Given the description of an element on the screen output the (x, y) to click on. 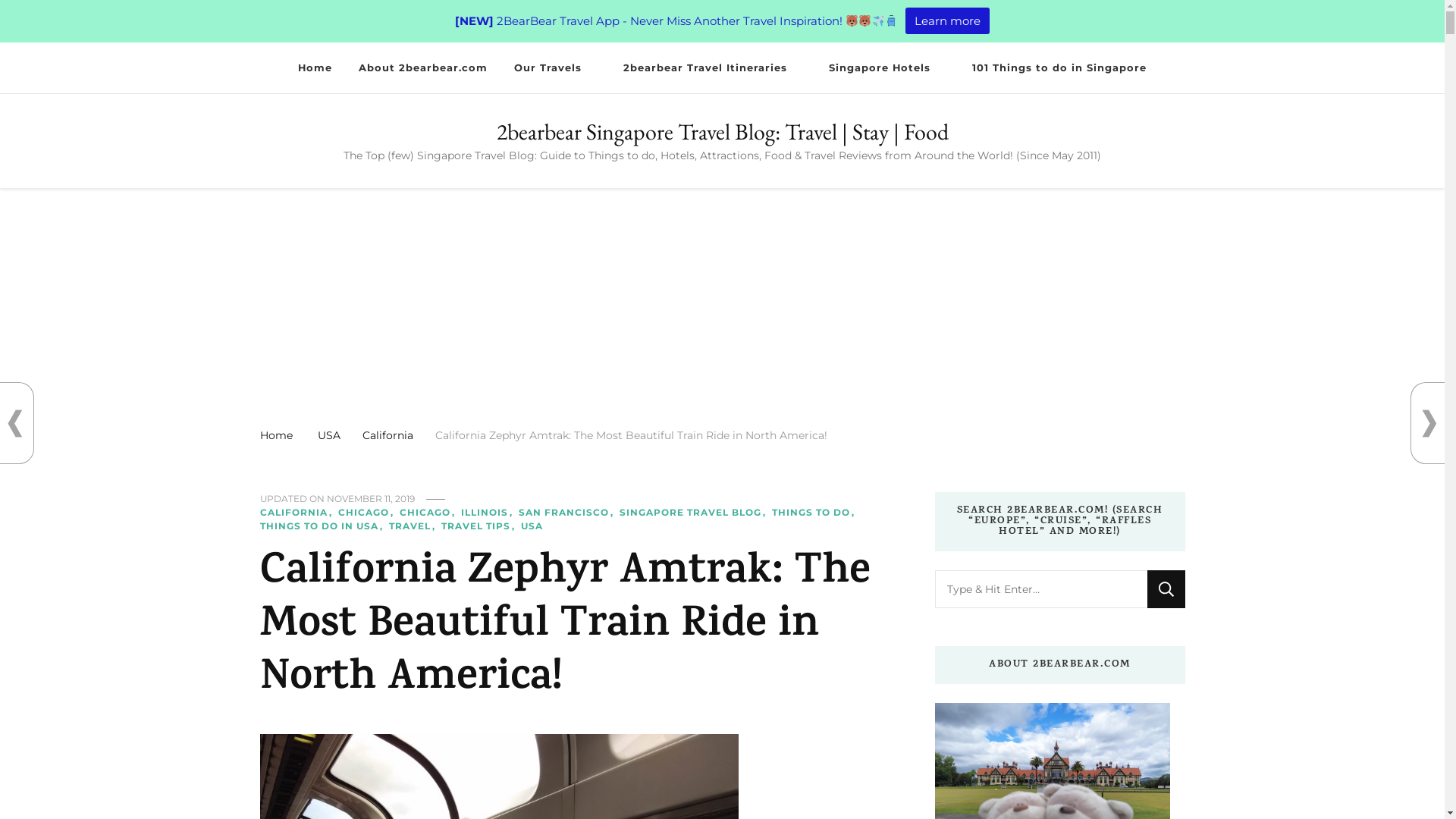
USA Element type: text (327, 434)
THINGS TO DO IN USA Element type: text (322, 526)
2bearbear Travel Itineraries Element type: text (712, 67)
TRAVEL TIPS Element type: text (479, 526)
CALIFORNIA Element type: text (297, 512)
Our Travels Element type: text (555, 67)
Learn more Element type: text (947, 20)
101 Things to do in Singapore Element type: text (1058, 67)
About 2bearbear.com Element type: text (422, 67)
TRAVEL Element type: text (413, 526)
CHICAGO Element type: text (428, 512)
NOVEMBER 11, 2019 Element type: text (370, 498)
SAN FRANCISCO Element type: text (567, 512)
ILLINOIS Element type: text (488, 512)
Search Element type: text (1355, 72)
California Element type: text (387, 434)
Singapore Hotels Element type: text (887, 67)
Advertisement Element type: hover (721, 301)
USA Element type: text (531, 526)
THINGS TO DO Element type: text (814, 512)
Search Element type: text (1165, 589)
CHICAGO Element type: text (367, 512)
Home Element type: text (275, 434)
SINGAPORE TRAVEL BLOG Element type: text (693, 512)
Home Element type: text (314, 67)
2bearbear Singapore Travel Blog: Travel | Stay | Food Element type: text (721, 131)
